Given the description of an element on the screen output the (x, y) to click on. 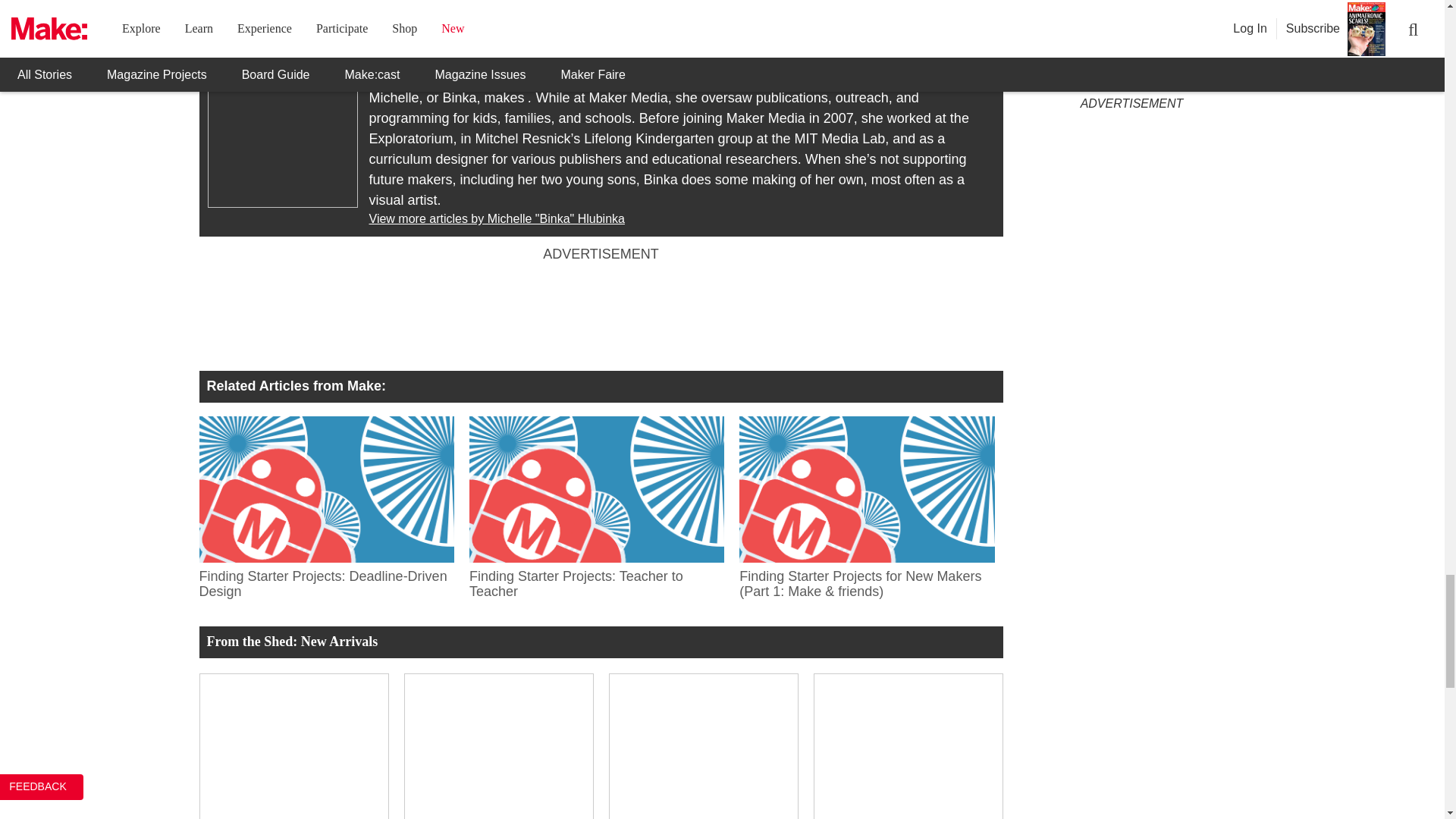
Finding Starter Projects: Teacher to Teacher (595, 489)
3rd party ad content (600, 312)
Finding Starter Projects: Deadline-Driven Design (325, 580)
Finding Starter Projects: Teacher to Teacher (595, 580)
Finding Starter Projects: Deadline-Driven Design (325, 489)
